Given the description of an element on the screen output the (x, y) to click on. 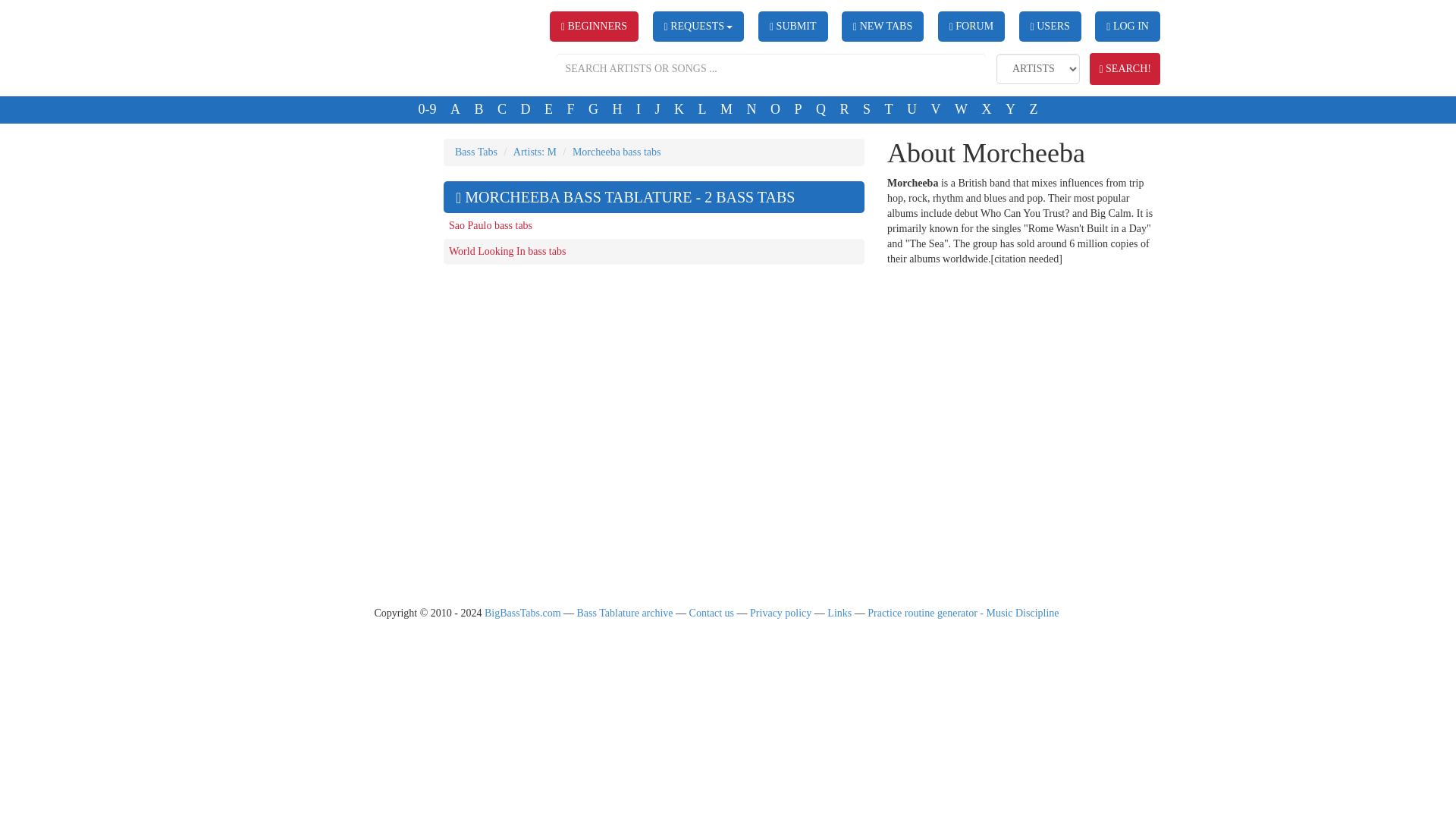
Big Bass Tabs (357, 43)
FORUM (970, 26)
C (502, 109)
Bass Tabs of artists beggining with F (569, 109)
Bass Tabs of artists beggining with K (678, 109)
Bass Tabs of artists beggining with C (502, 109)
B (477, 109)
Bass Tabs of artists beggining with Q (820, 109)
Bass Tabs of artists beggining with D (525, 109)
SEARCH! (1124, 67)
